Given the description of an element on the screen output the (x, y) to click on. 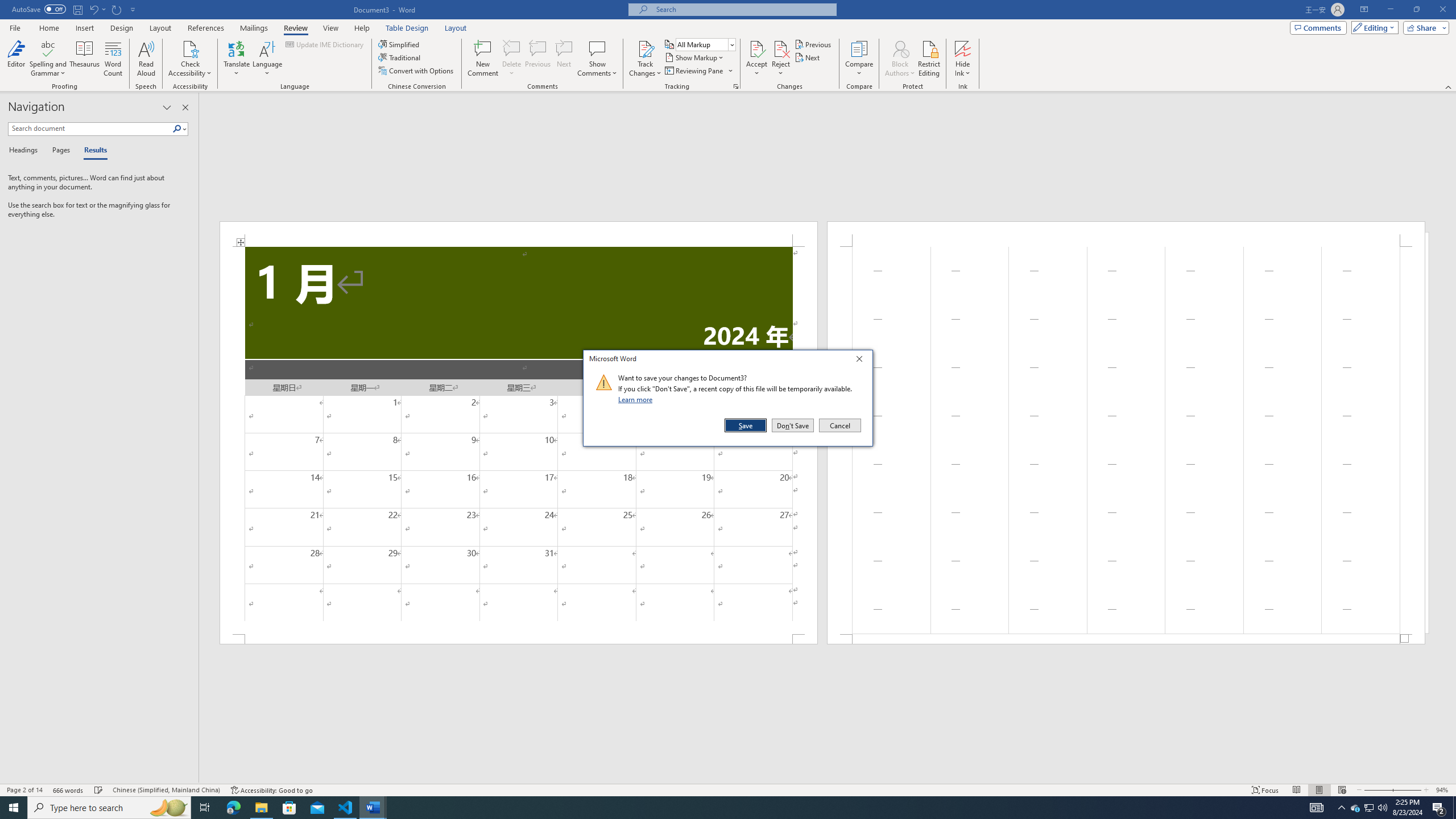
Running applications (717, 807)
Start (13, 807)
Class: MsoCommandBar (728, 789)
Show Comments (597, 48)
Translate (236, 58)
Show Markup (695, 56)
Undo Apply Quick Style (92, 9)
Header -Section 1- (1126, 233)
Reviewing Pane (694, 69)
Ribbon Display Options (1364, 9)
